Given the description of an element on the screen output the (x, y) to click on. 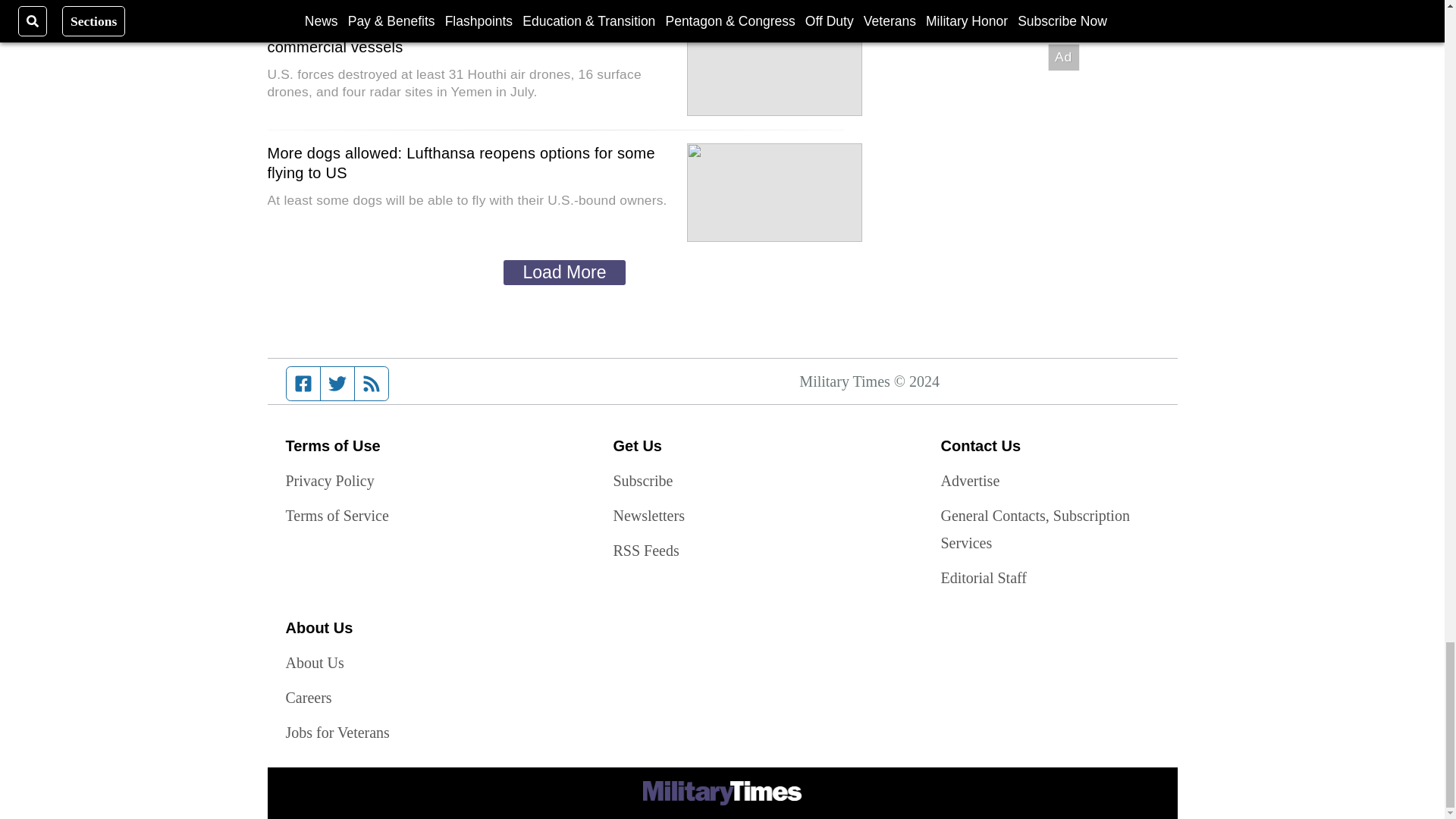
Twitter feed (336, 383)
RSS feed (371, 383)
Facebook page (303, 383)
